Given the description of an element on the screen output the (x, y) to click on. 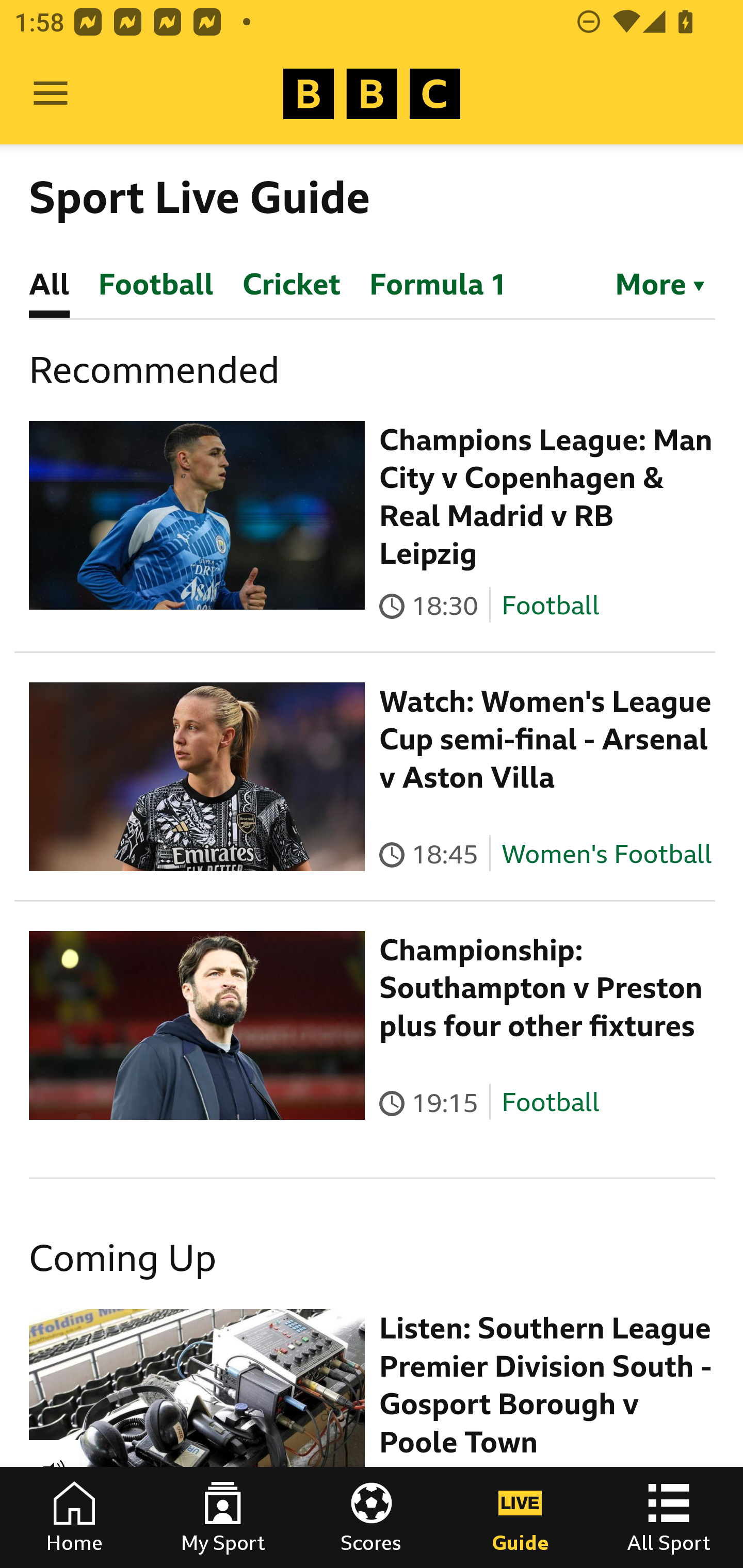
Open Menu (50, 93)
Football (550, 604)
Women's Football (606, 853)
Football (550, 1102)
Home (74, 1517)
My Sport (222, 1517)
Scores (371, 1517)
All Sport (668, 1517)
